Given the description of an element on the screen output the (x, y) to click on. 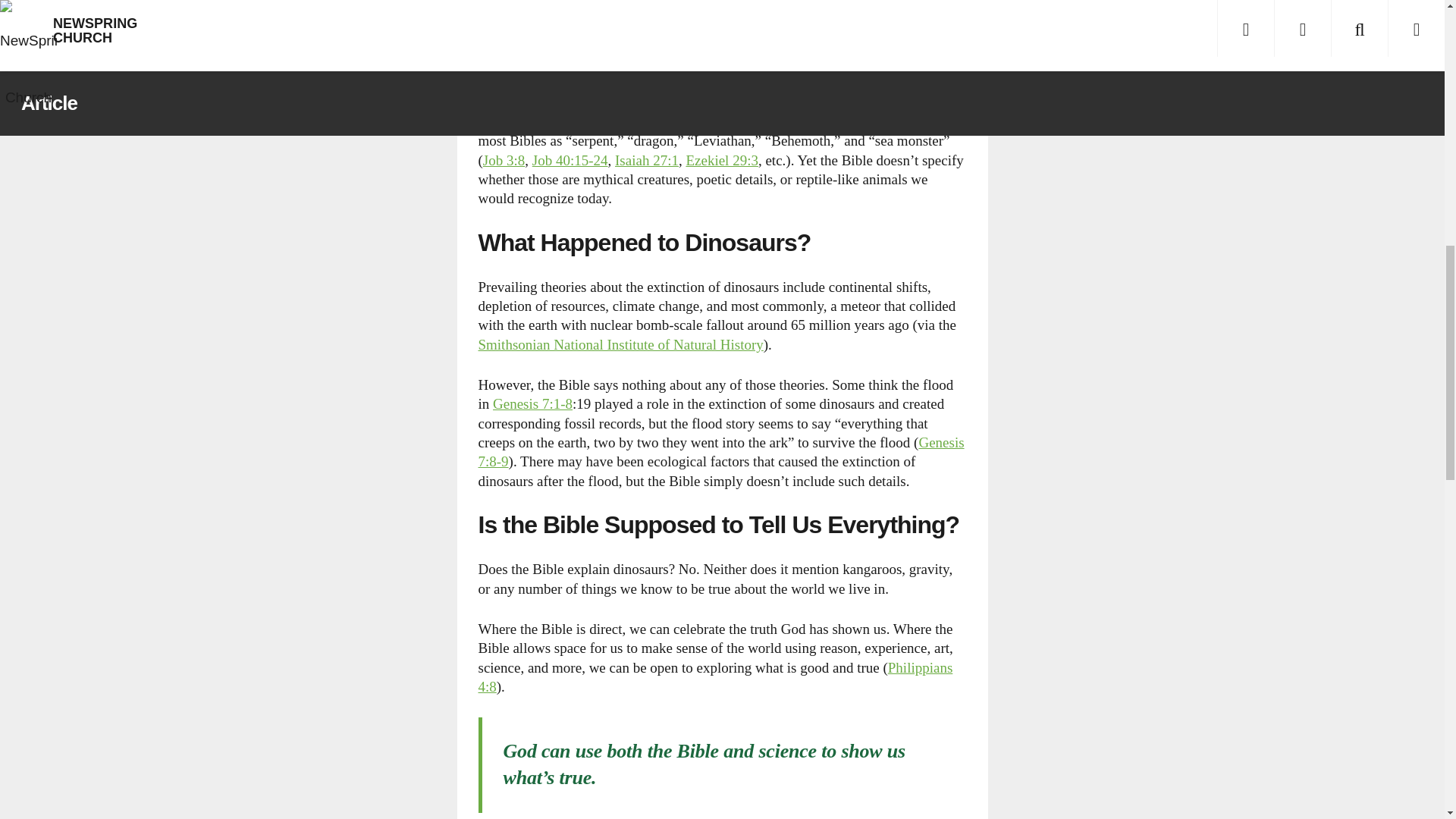
Isaiah 27:1 (646, 160)
Genesis 7:8-9 (720, 451)
Bible Gateway (714, 677)
Job 3:8 (503, 160)
Ezekiel 29:3 (721, 160)
Bible Gateway (570, 160)
Philippians 4:8 (714, 677)
Bible Gateway (532, 403)
Bible Gateway (503, 160)
Job 40:15-24 (570, 160)
